Given the description of an element on the screen output the (x, y) to click on. 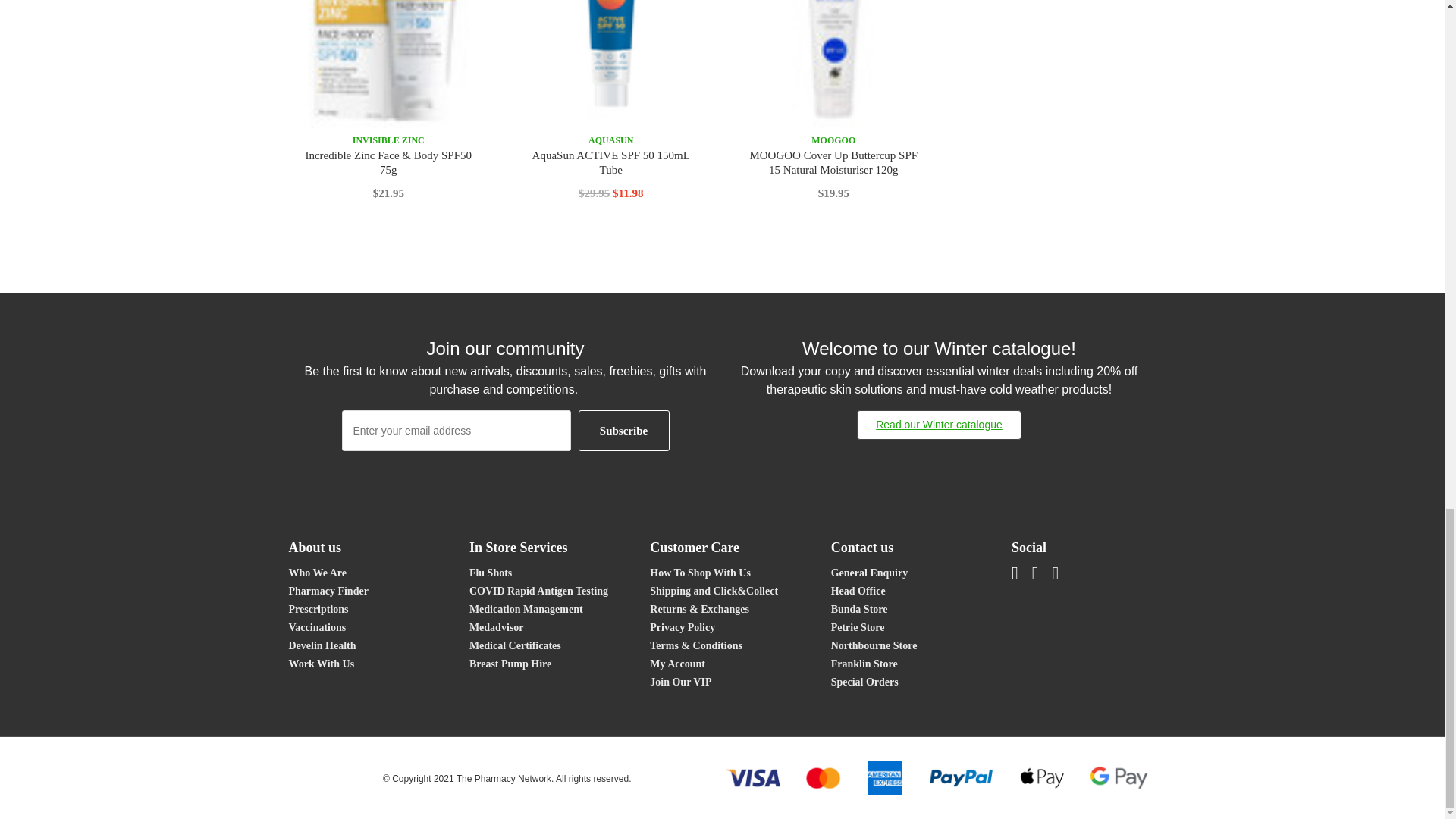
Cover Up Buttercup SPF 15 Natural Moisturiser  120g (833, 63)
AquaSun ACTIVE SPF 50 150mL Tube (611, 63)
Subscribe (623, 429)
